Given the description of an element on the screen output the (x, y) to click on. 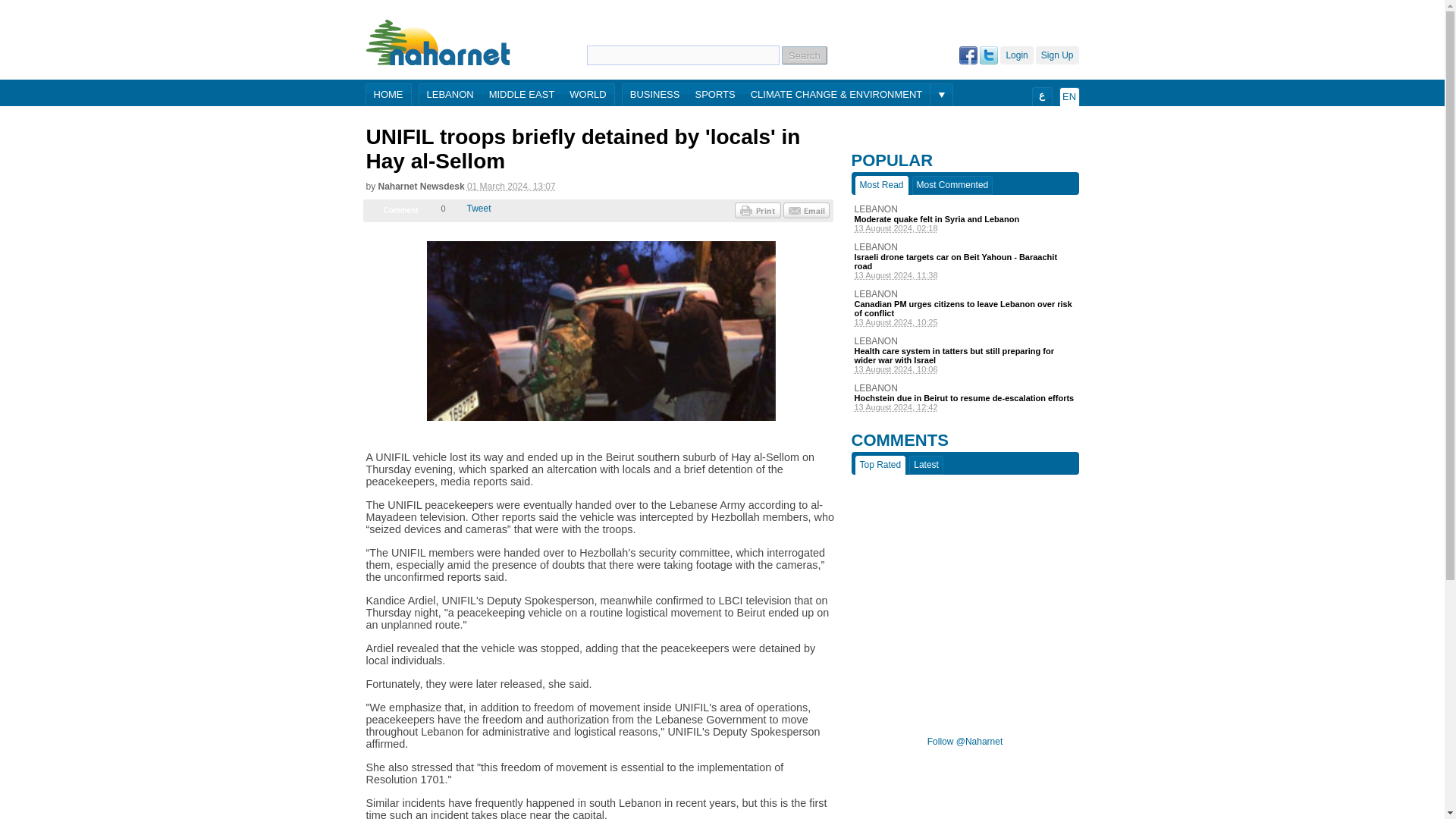
SPORTS (714, 95)
LEBANON (449, 95)
LEBANON (964, 246)
Moderate quake felt in Syria and Lebanon (964, 218)
HOME (387, 95)
BUSINESS (655, 95)
2024-08-13T07:06:08Z (964, 368)
Tweet (479, 208)
Login (1016, 54)
